Given the description of an element on the screen output the (x, y) to click on. 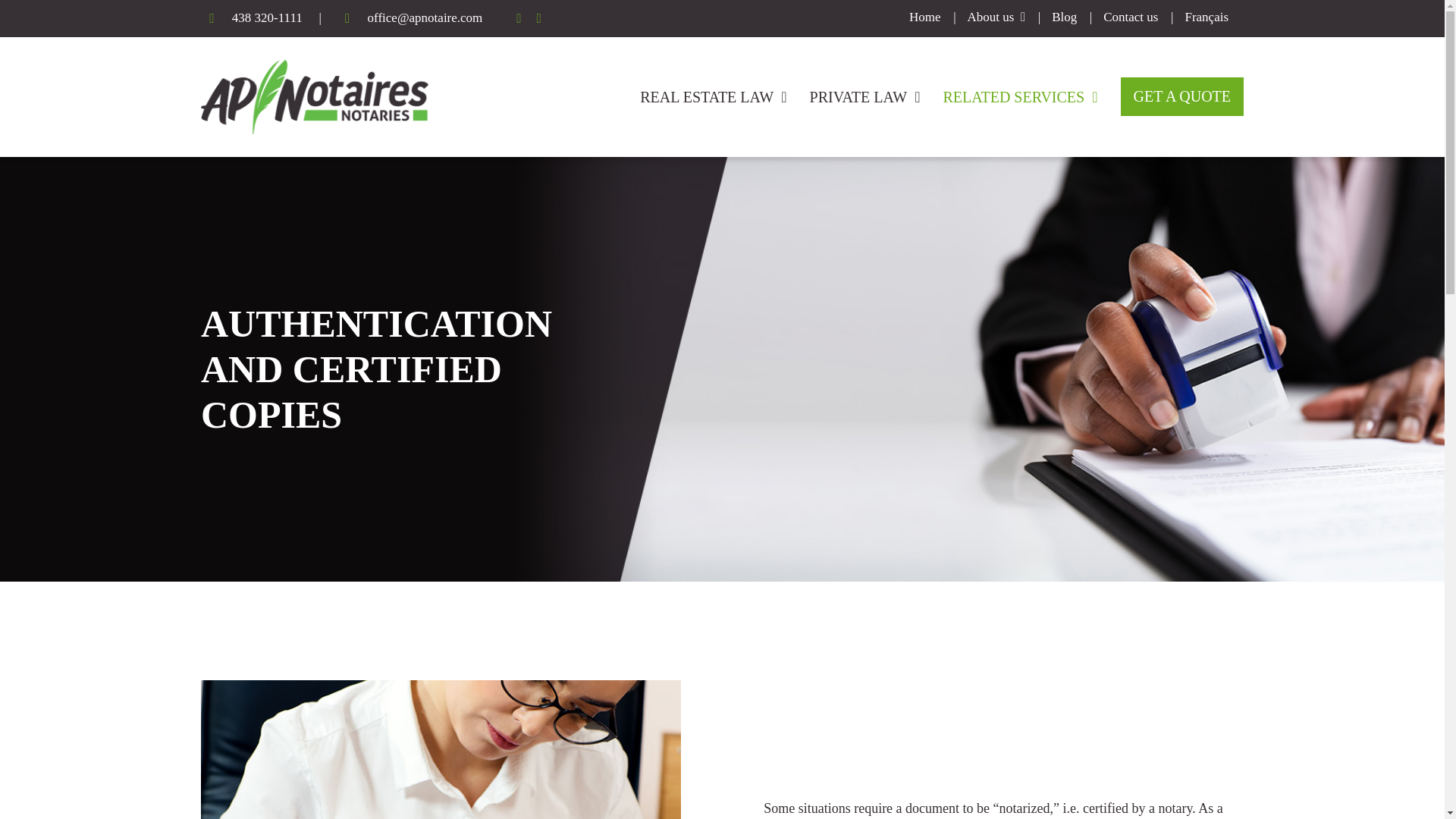
PRIVATE LAW (864, 96)
REAL ESTATE LAW (713, 96)
RELATED SERVICES (1019, 96)
GET A QUOTE (1182, 96)
Blog (1064, 17)
Contact us (1130, 17)
About us (997, 17)
authentification-01 (440, 749)
Home (924, 17)
438 320-1111 (266, 17)
